Given the description of an element on the screen output the (x, y) to click on. 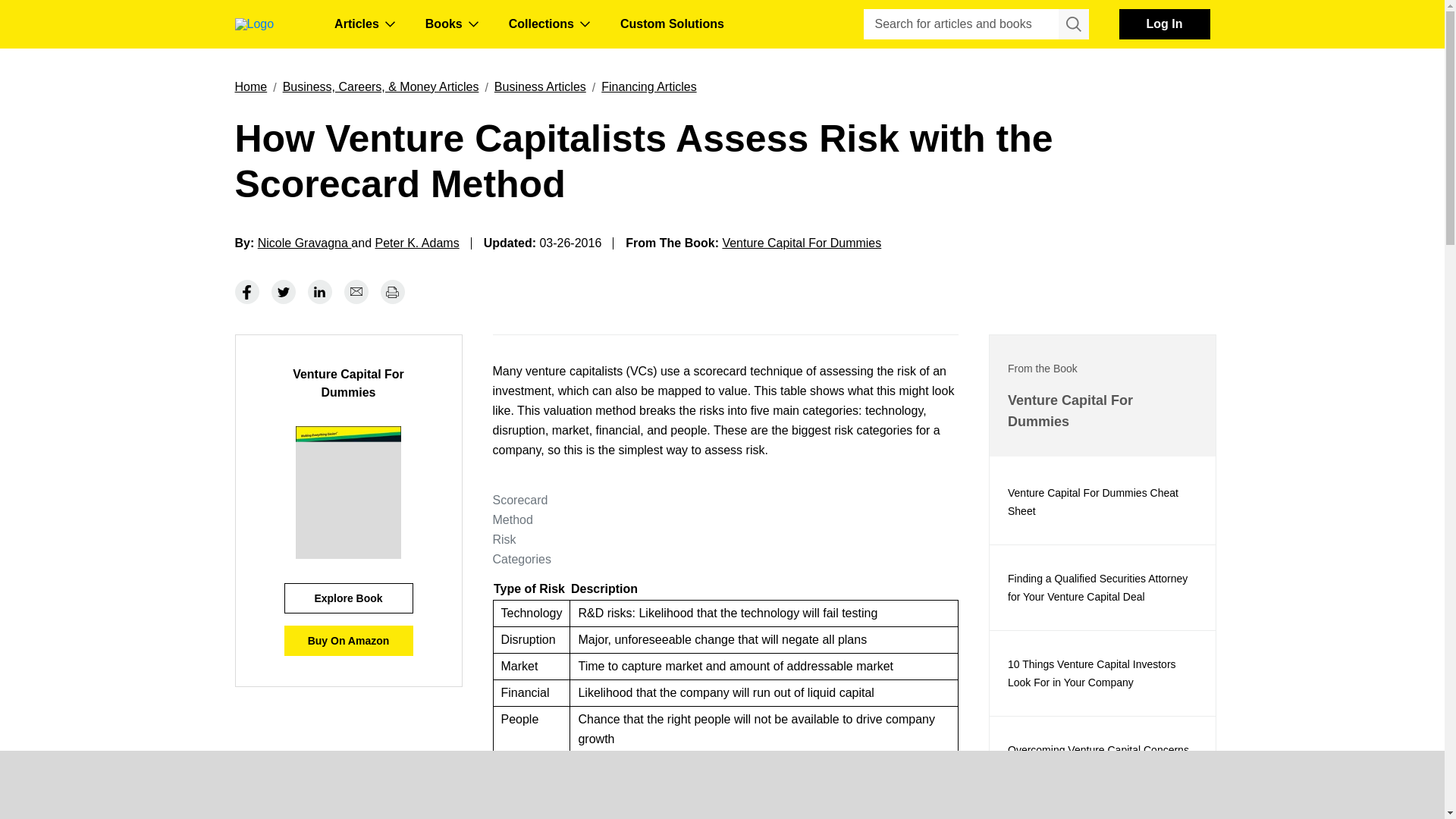
Custom Solutions (671, 24)
